Given the description of an element on the screen output the (x, y) to click on. 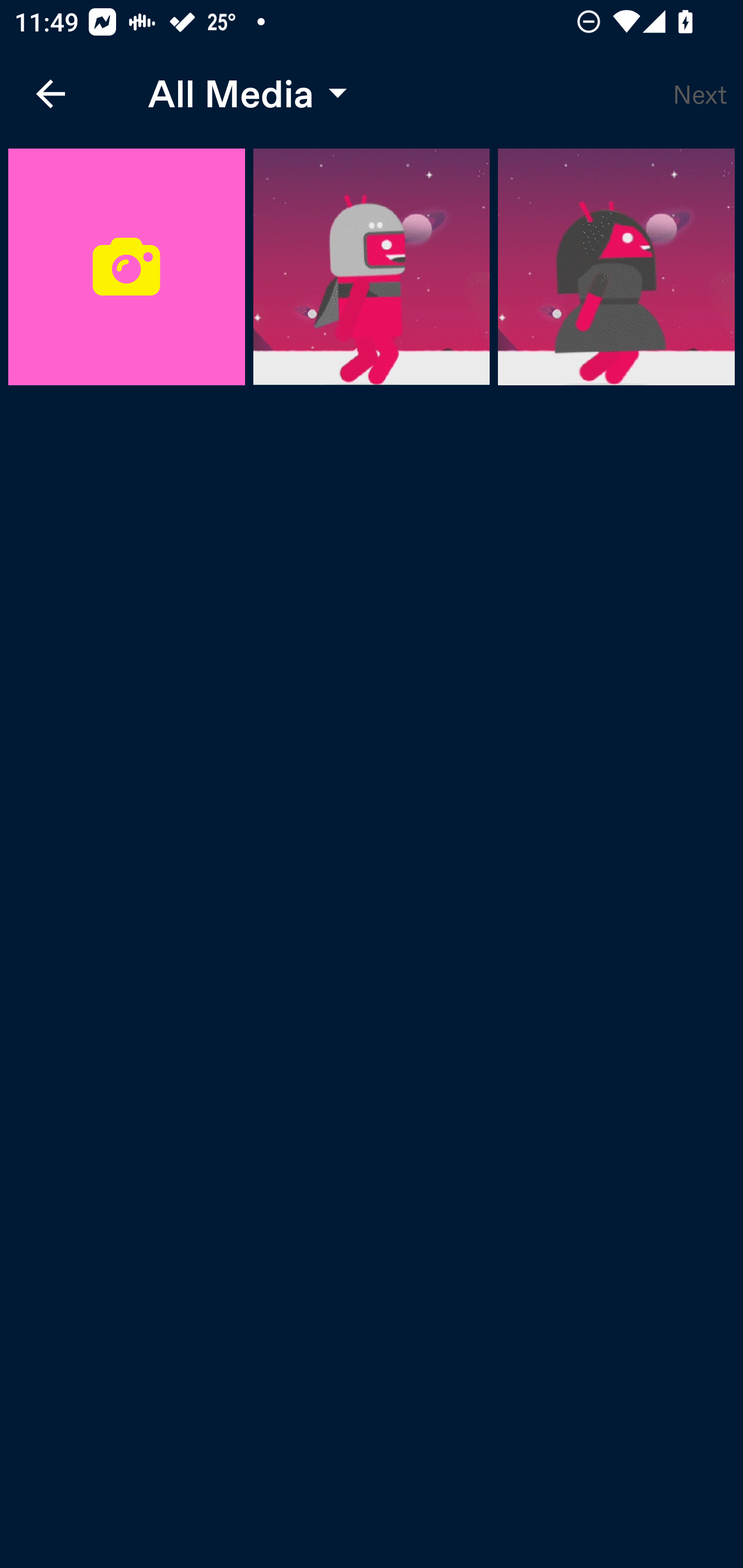
Navigate up (50, 93)
All Media (242, 93)
Next (699, 93)
Gallery Media Item image1 of 3 (371, 266)
Gallery Media Item image2 of 3 (615, 266)
